Given the description of an element on the screen output the (x, y) to click on. 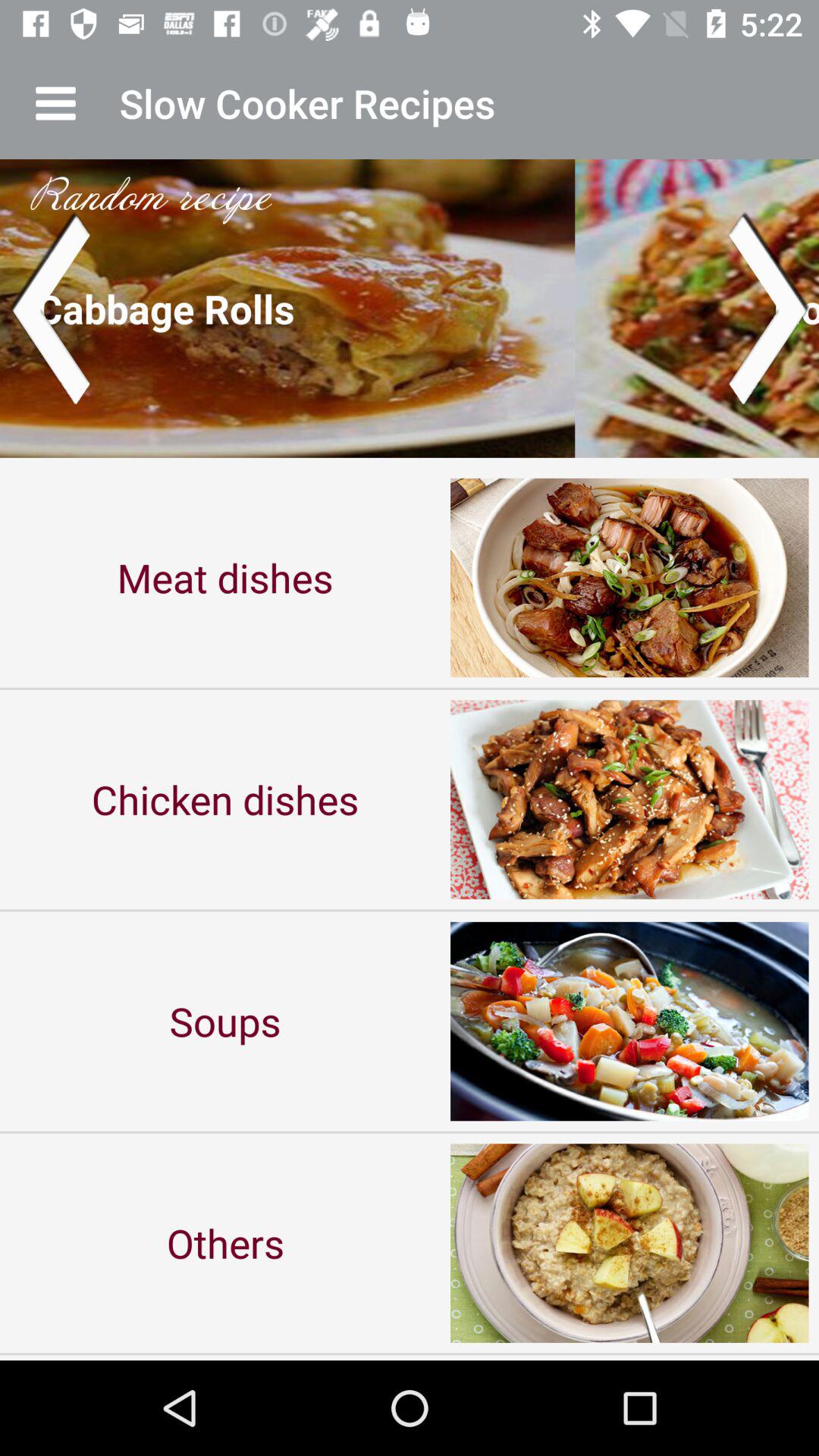
next (769, 308)
